Given the description of an element on the screen output the (x, y) to click on. 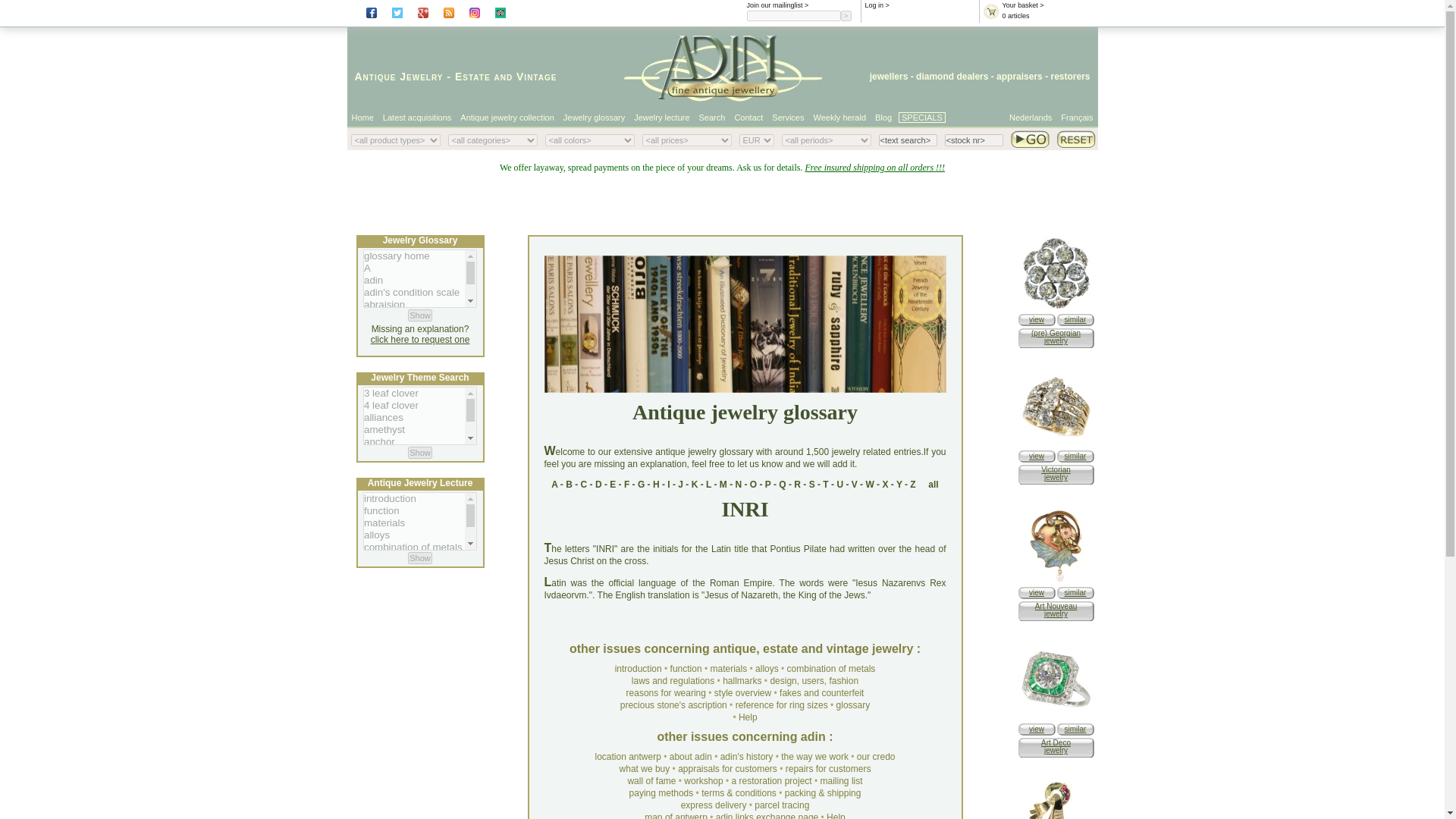
Vintage (536, 76)
appraisers (1018, 76)
Estate (472, 76)
More on this victorian jewel (1055, 444)
restorers (1069, 76)
Show (419, 315)
jewellers (888, 76)
More info on this Art Deco jewel (1036, 728)
Show (419, 558)
More Art Deco jewelry (1075, 728)
Contact (748, 117)
more info on this georgian jewel (1036, 319)
Log in (873, 5)
SPECIALS (921, 117)
Jewelry lecture (661, 117)
